Given the description of an element on the screen output the (x, y) to click on. 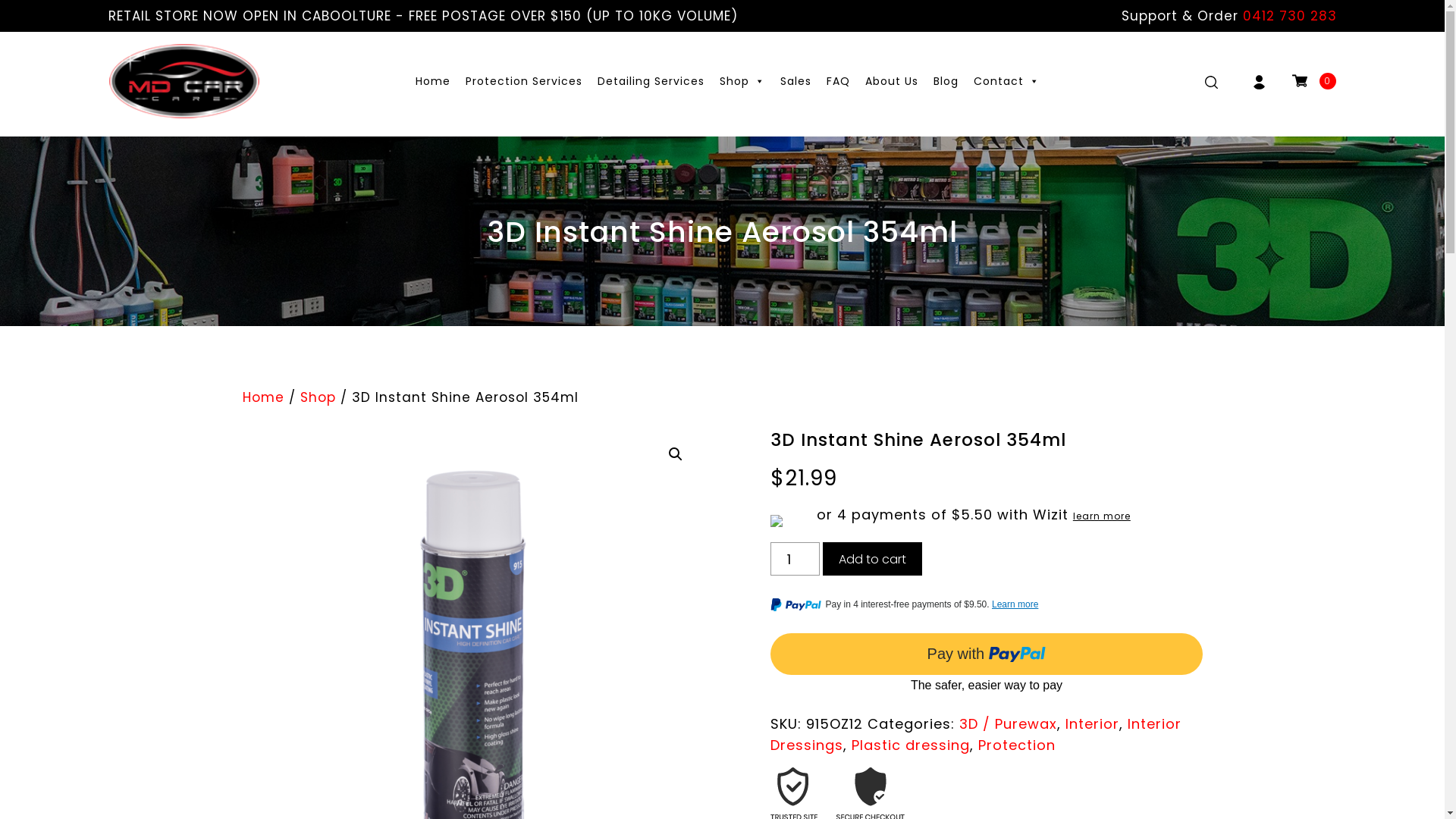
learn more Element type: text (1101, 515)
Detailing Services Element type: text (650, 80)
Interior Element type: text (1092, 723)
PayPal Message 1 Element type: hover (986, 606)
Shop Element type: text (317, 396)
Blog Element type: text (945, 80)
3D / Purewax Element type: text (1008, 723)
Home Element type: text (263, 396)
Contact Element type: text (1006, 80)
Add to cart Element type: text (872, 558)
Interior Dressings Element type: text (975, 734)
Protection Services Element type: text (523, 80)
Plastic dressing Element type: text (910, 744)
PayPal Element type: hover (986, 664)
FAQ Element type: text (838, 80)
Shop Element type: text (742, 80)
Home Element type: text (432, 80)
Sales Element type: text (795, 80)
0412 730 283 Element type: text (1289, 15)
About Us Element type: text (891, 80)
Protection Element type: text (1016, 744)
